Given the description of an element on the screen output the (x, y) to click on. 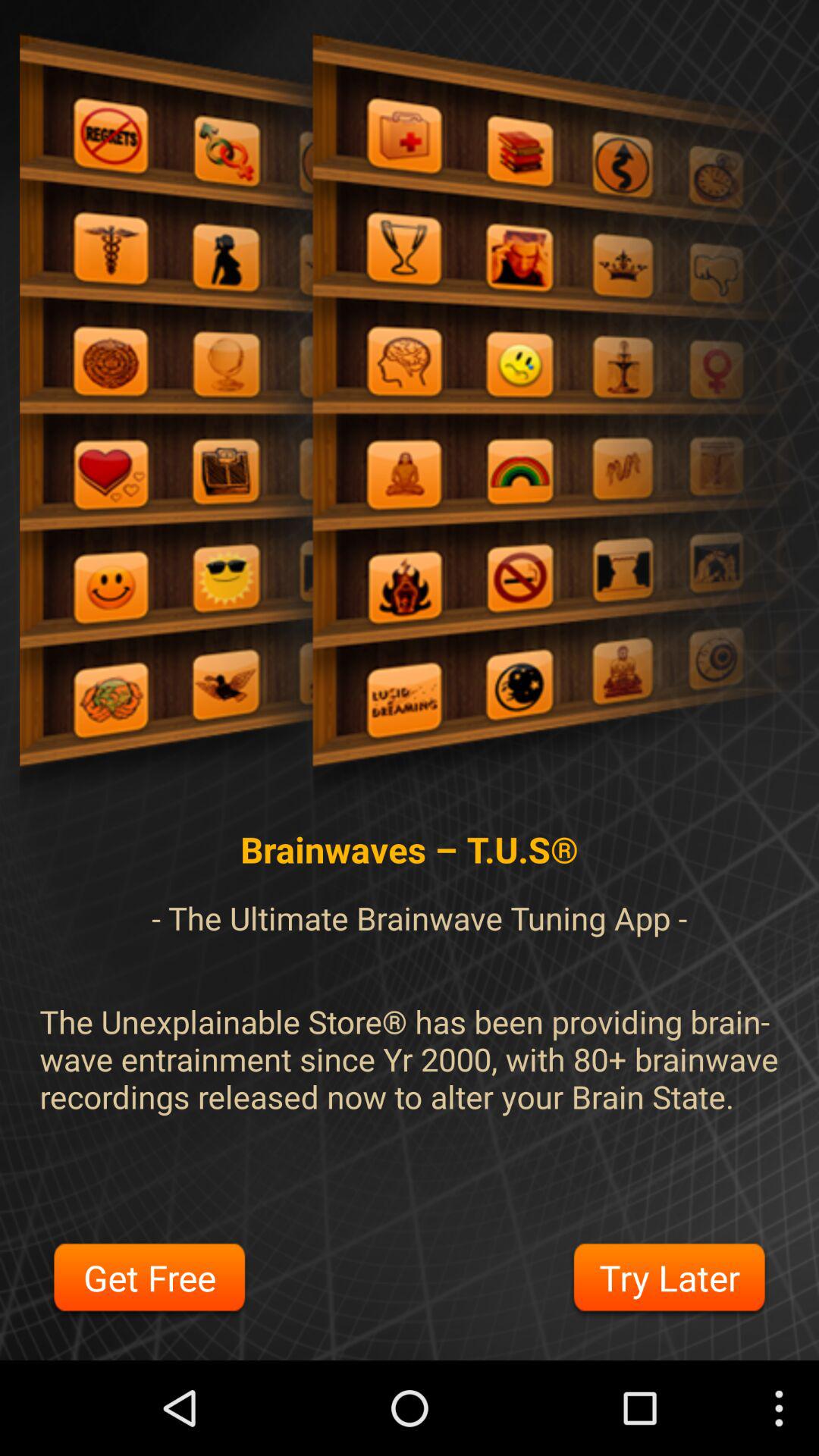
turn on item at the top (409, 422)
